Given the description of an element on the screen output the (x, y) to click on. 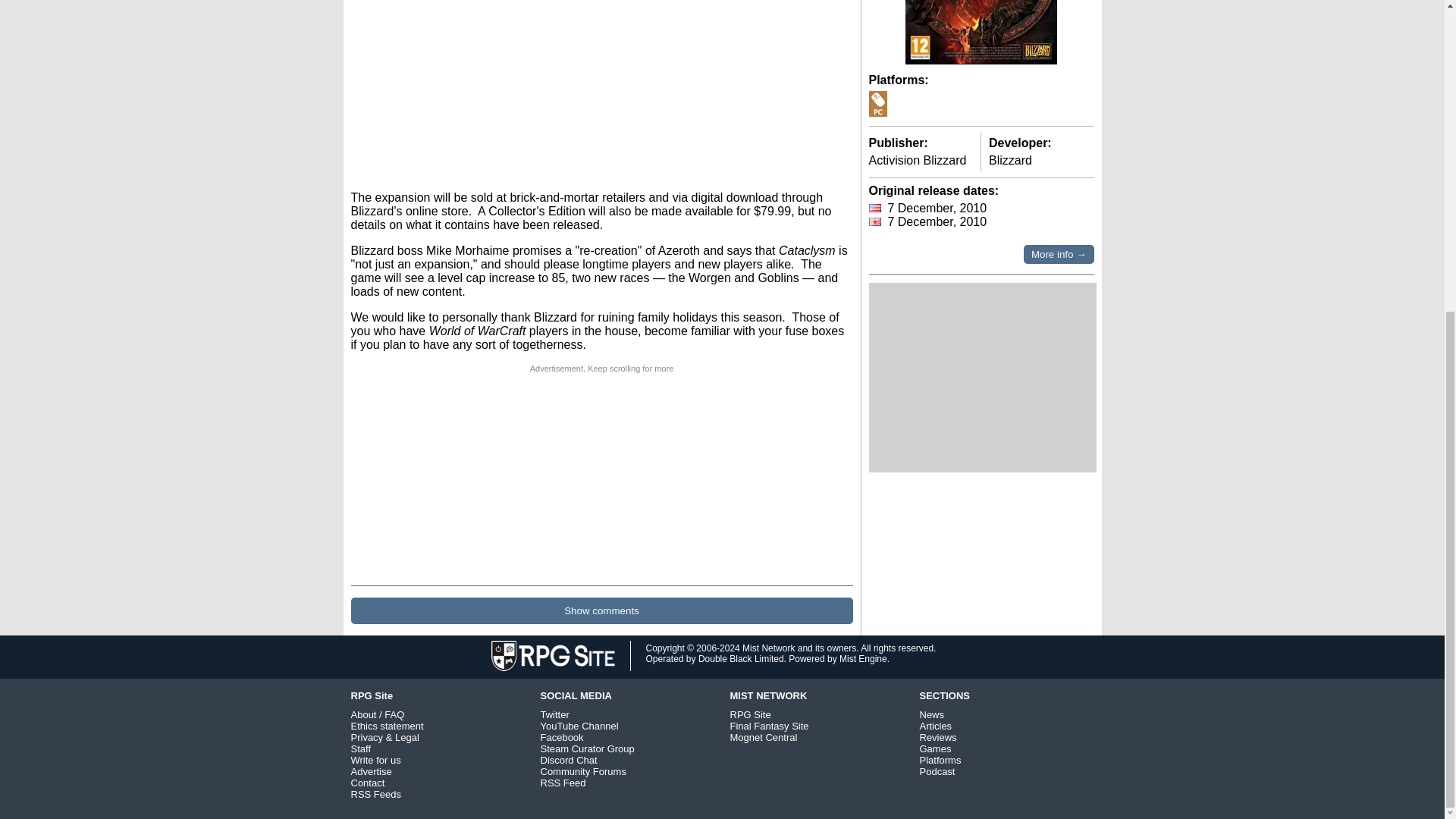
Facebook (561, 737)
Steam Curator Group (586, 748)
RSS Feeds (375, 794)
Discord Chat (568, 759)
RPG Site (749, 714)
Community Forums (583, 771)
Twitter (554, 714)
RSS Feed (562, 782)
Show comments (600, 610)
Staff (360, 748)
